Given the description of an element on the screen output the (x, y) to click on. 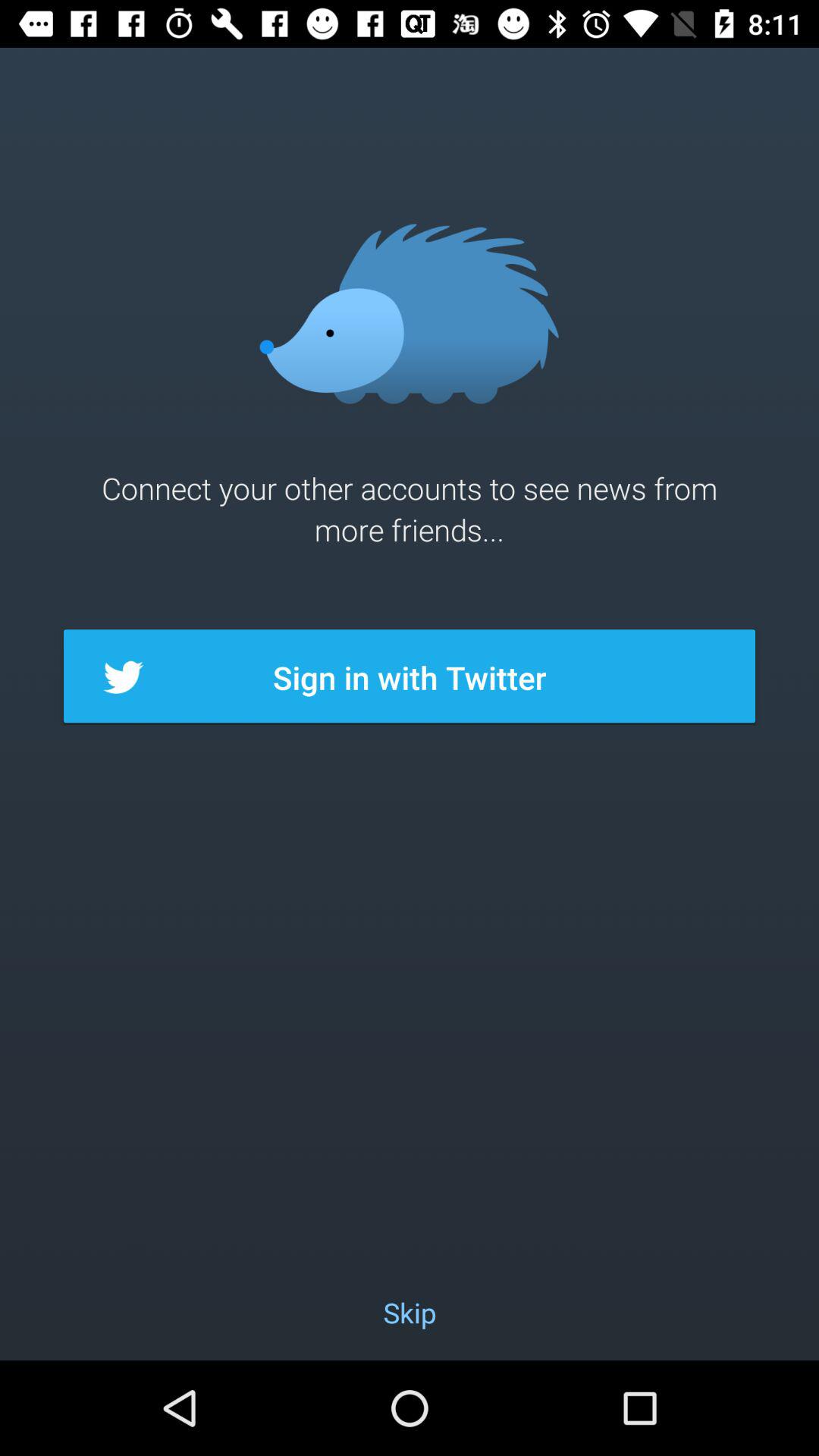
open skip item (409, 1312)
